Given the description of an element on the screen output the (x, y) to click on. 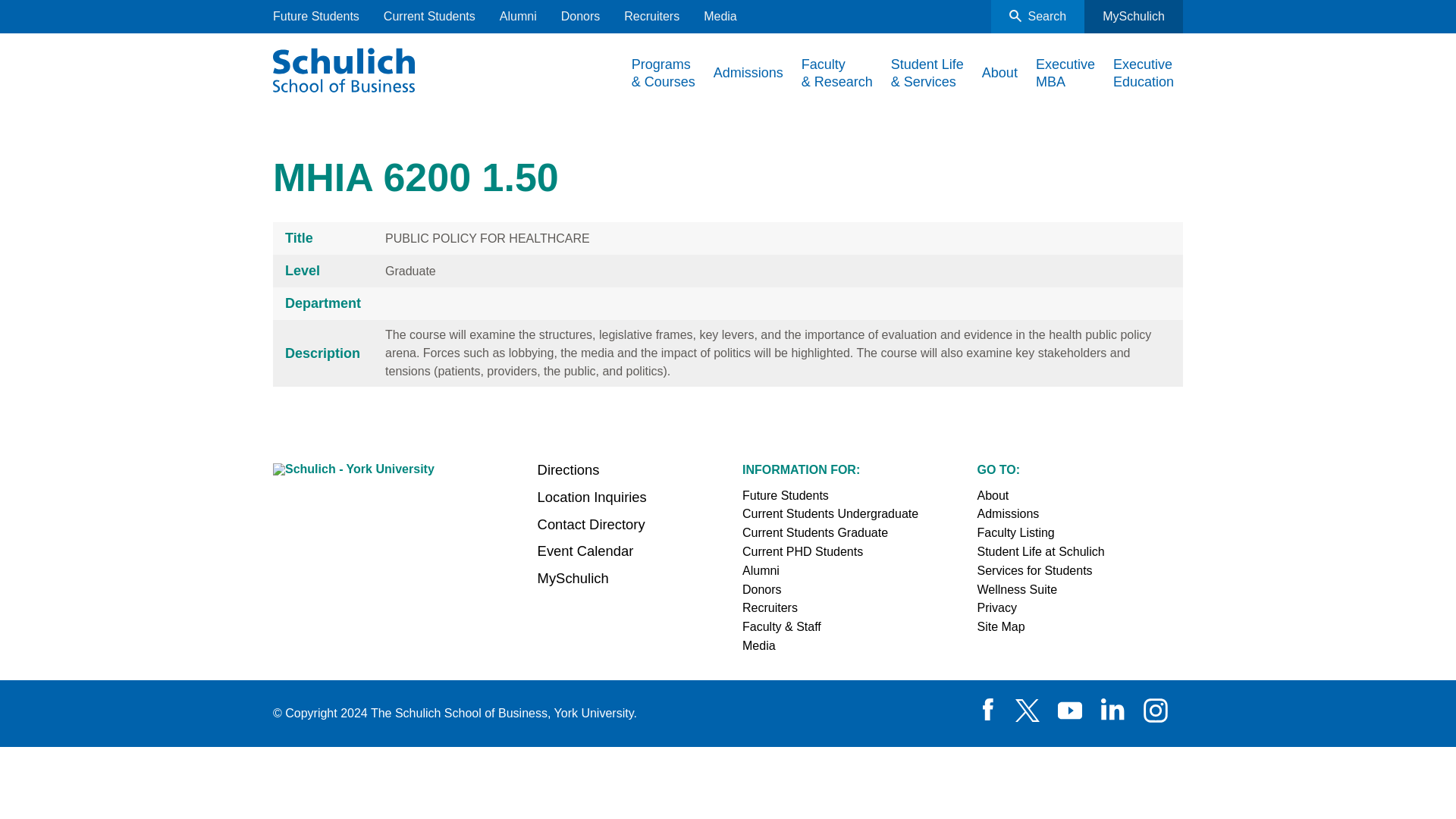
Donors (579, 16)
Alumni (518, 16)
Future Students (316, 16)
Current Students (430, 16)
Return to the homepage (343, 67)
